Given the description of an element on the screen output the (x, y) to click on. 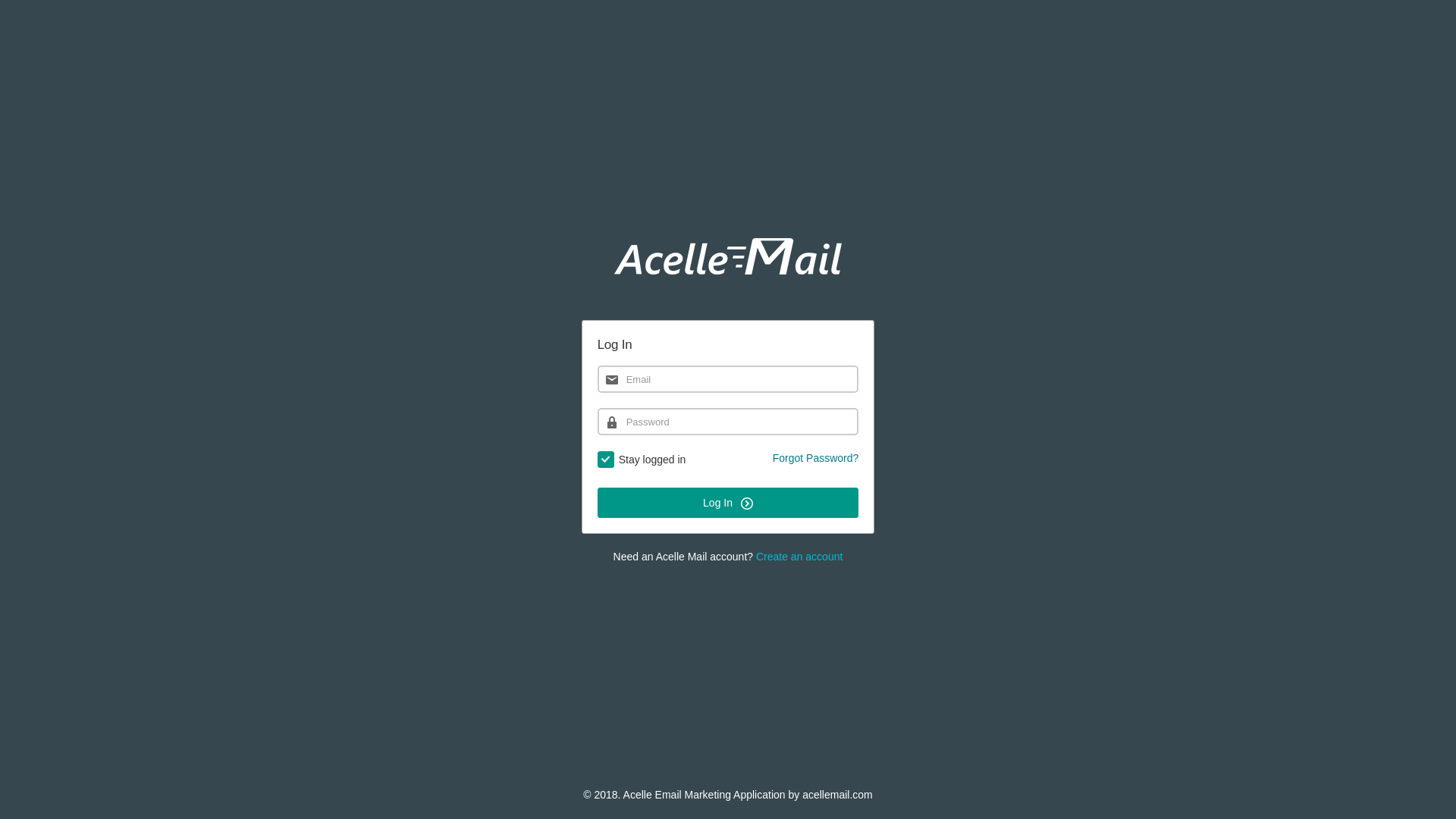
Forgot Password? Element type: text (815, 457)
Create an account Element type: text (799, 556)
Log In Element type: text (728, 502)
acellemail.com Element type: text (837, 794)
